Given the description of an element on the screen output the (x, y) to click on. 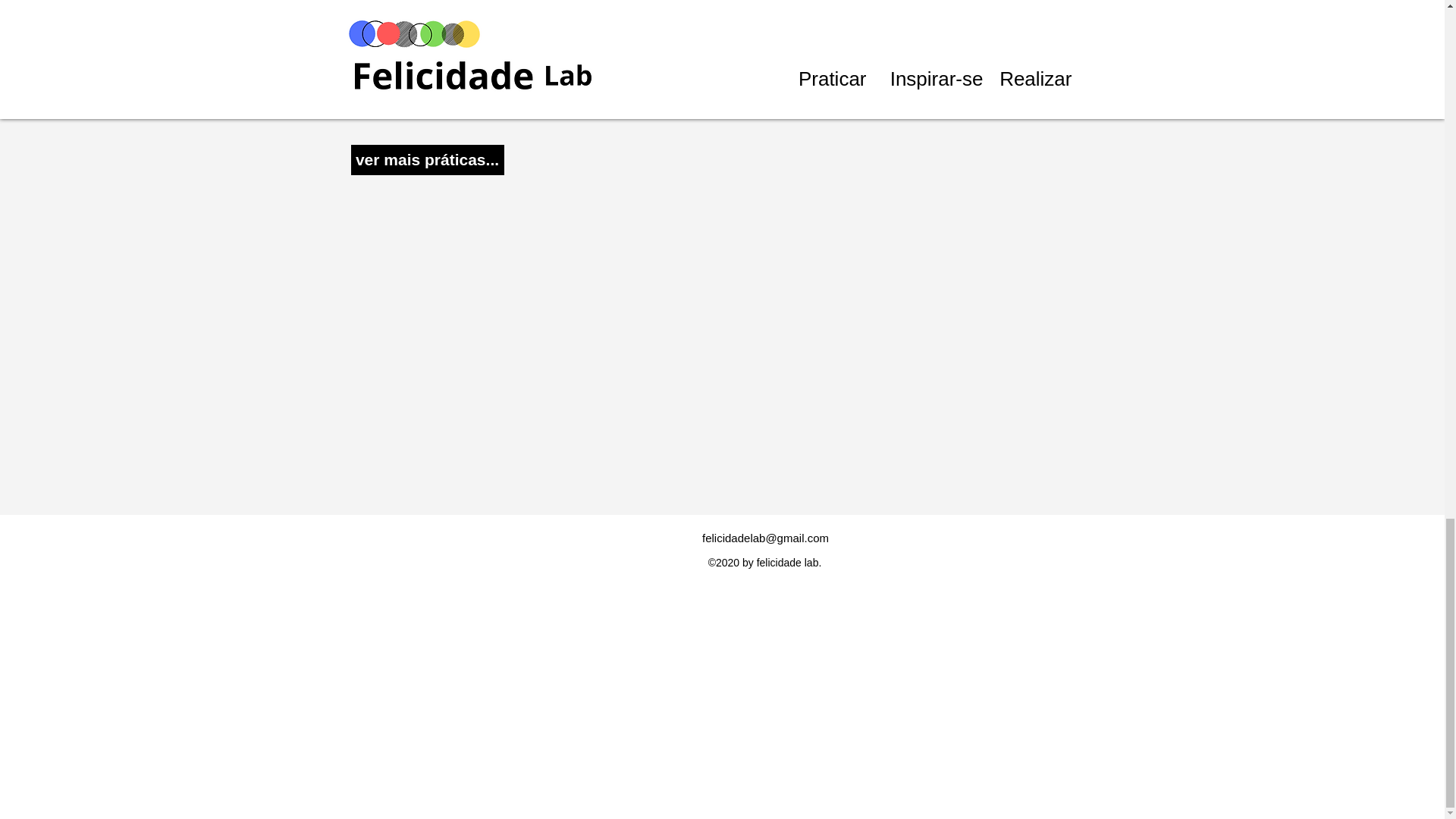
UCLA Mindful Awareness Research Center (573, 72)
Diana Winston, Ph.D.,  (407, 72)
Greater Good Science Center (425, 84)
